Given the description of an element on the screen output the (x, y) to click on. 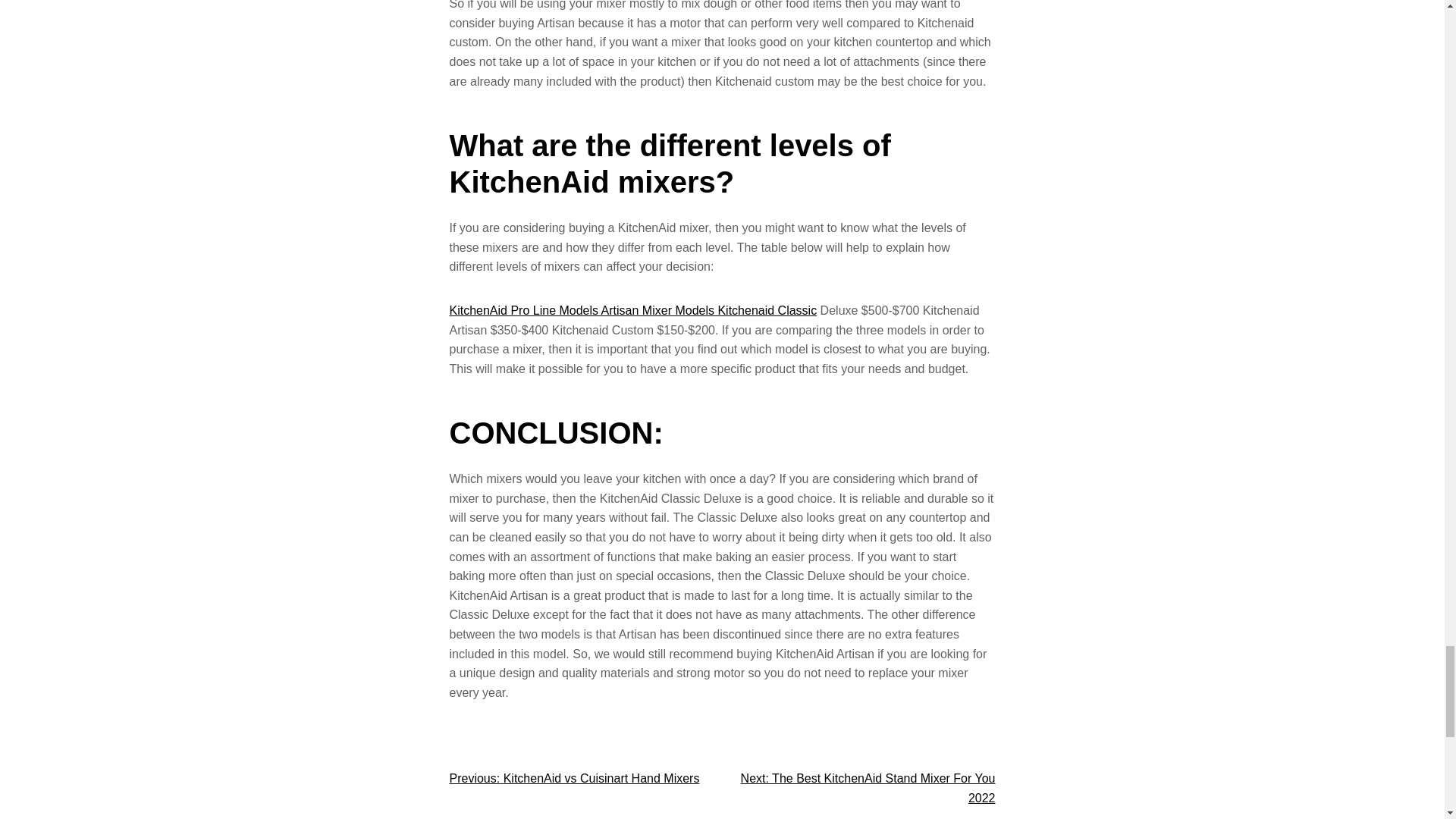
Next: The Best KitchenAid Stand Mixer For You 2022 (868, 788)
Previous: KitchenAid vs Cuisinart Hand Mixers (573, 778)
